Given the description of an element on the screen output the (x, y) to click on. 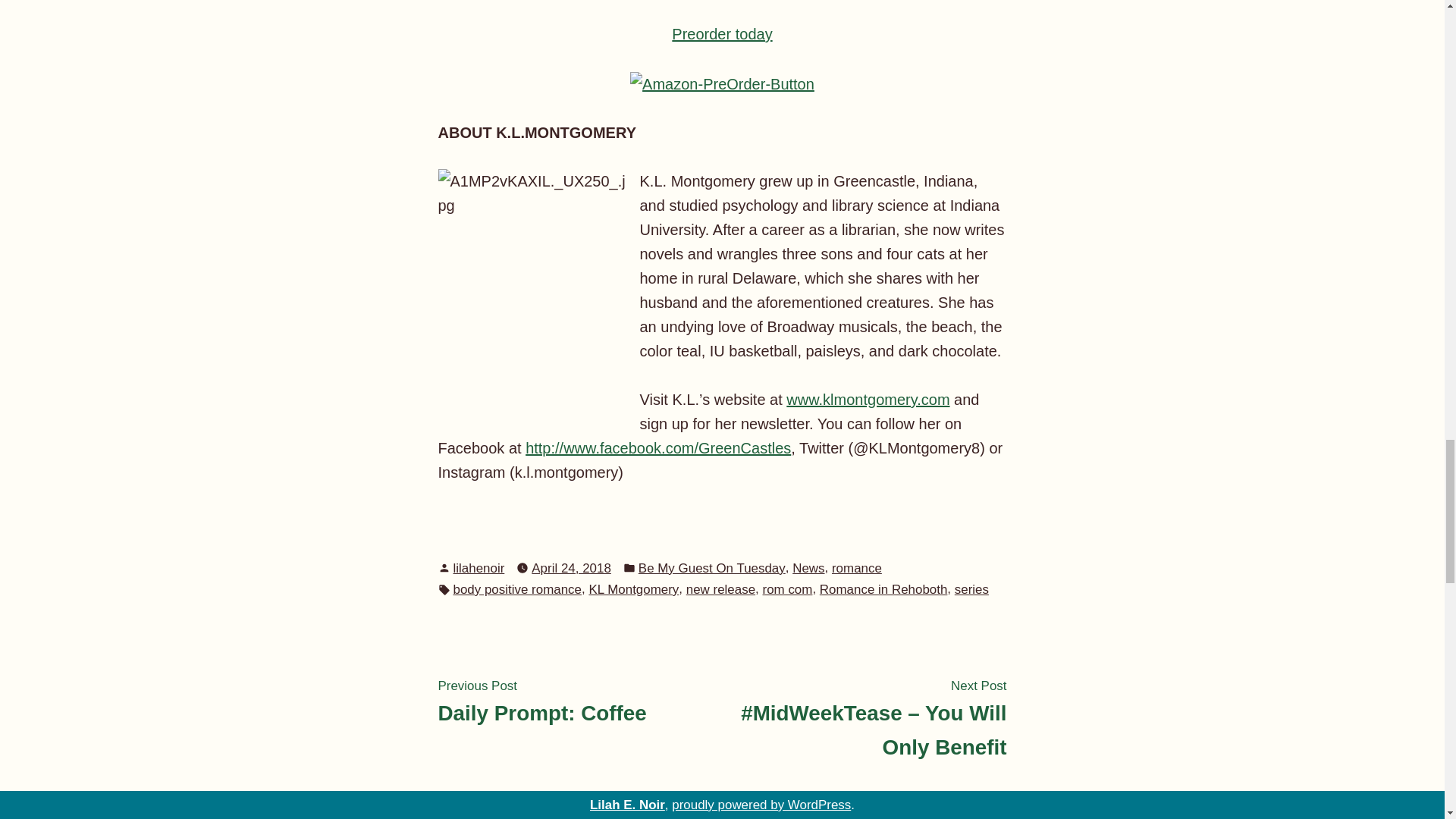
lilahenoir (478, 568)
Be My Guest On Tuesday (712, 567)
KL Montgomery (633, 589)
www.klmontgomery.com (867, 399)
Preorder today (721, 33)
News (808, 567)
April 24, 2018 (571, 567)
new release (720, 589)
body positive romance (516, 589)
romance (856, 567)
